Given the description of an element on the screen output the (x, y) to click on. 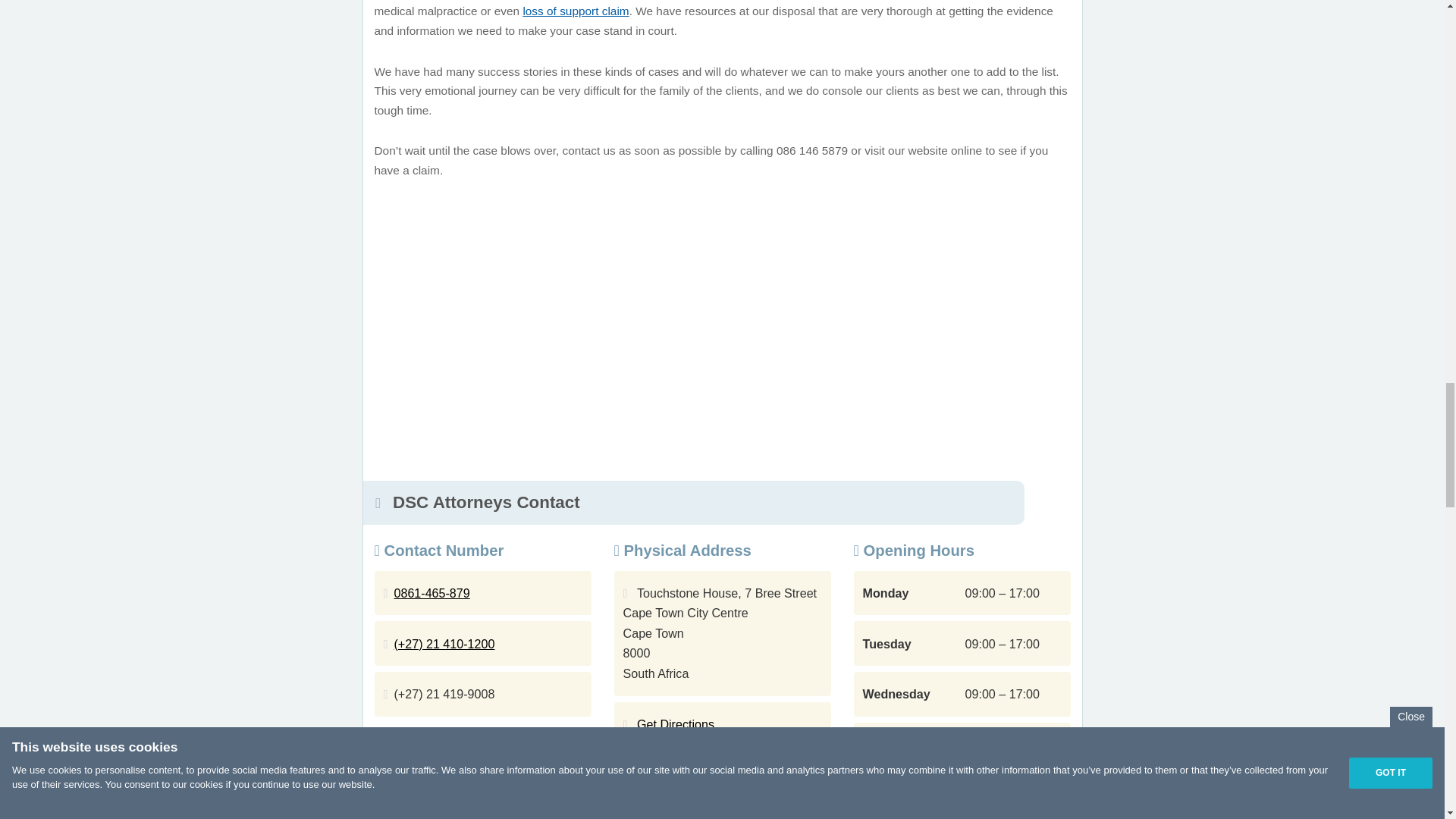
0861-465-879 (432, 592)
loss of support claim (575, 10)
Get Directions (675, 724)
